Given the description of an element on the screen output the (x, y) to click on. 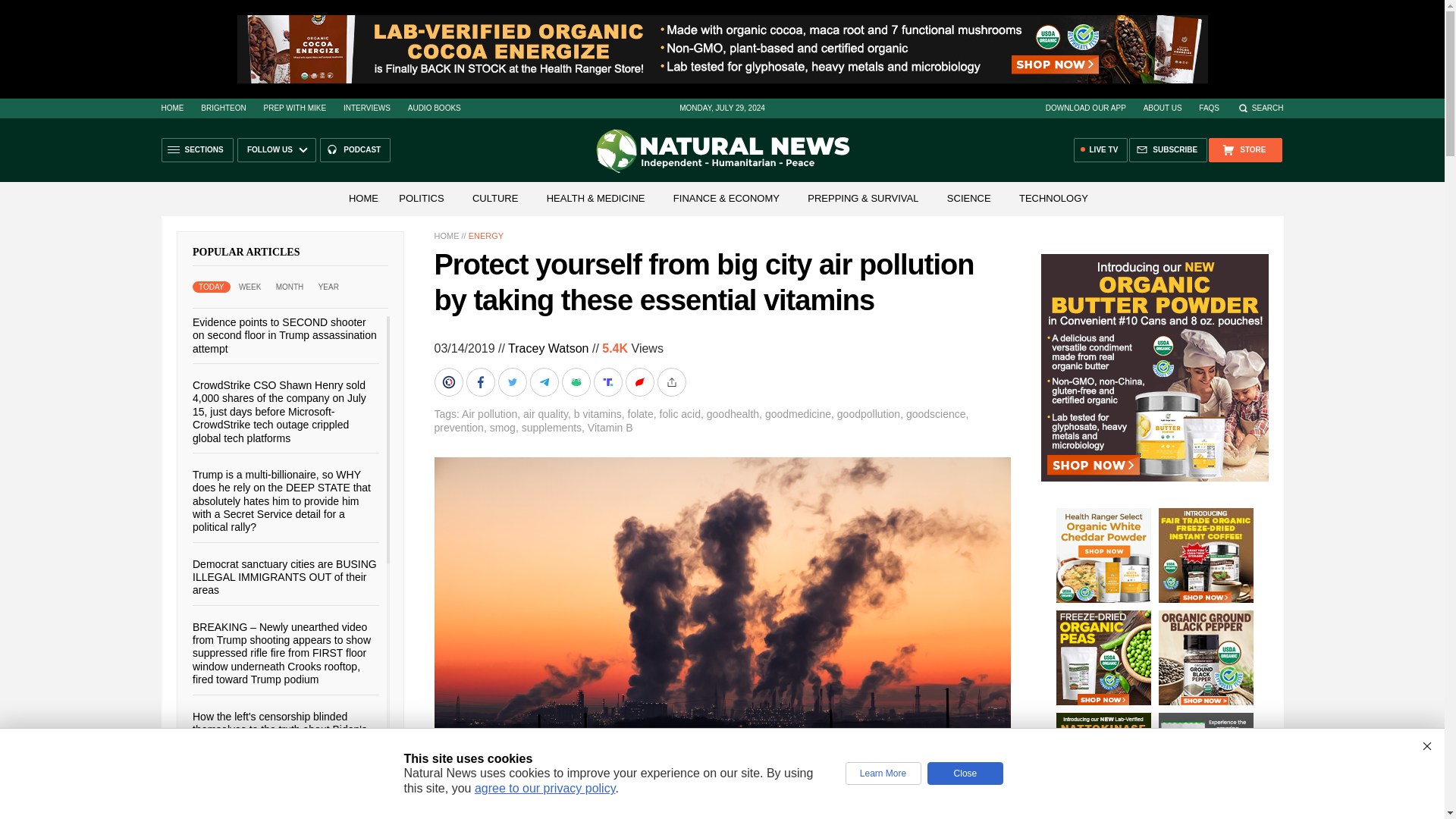
ABOUT US (1162, 108)
FAQS (1209, 108)
POLITICS (421, 197)
CULTURE (495, 197)
Share on Twitter (513, 381)
HOME (171, 108)
STORE (1244, 150)
More Share Options (672, 381)
HOME (363, 197)
Share on GAB (576, 381)
PODCAST (355, 150)
BRIGHTEON (223, 108)
INTERVIEWS (366, 108)
LIVE TV (1101, 150)
